Given the description of an element on the screen output the (x, y) to click on. 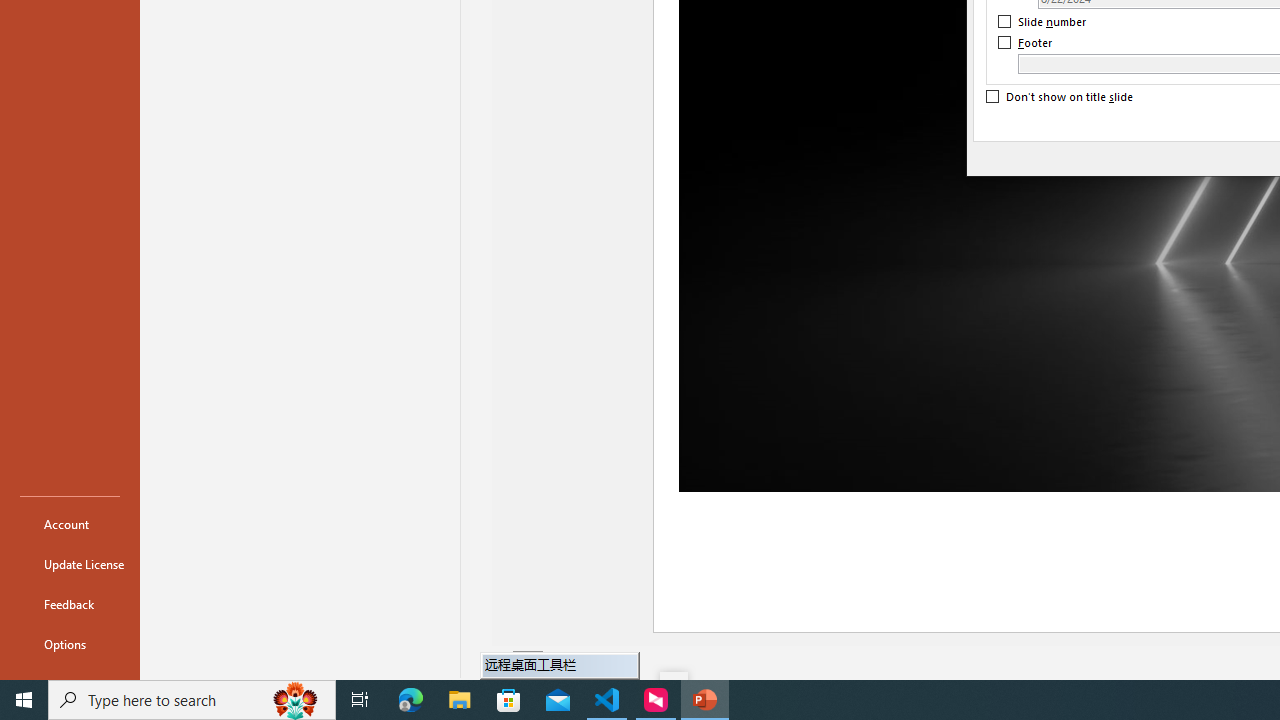
Don't show on title slide (1060, 97)
Next Page (579, 662)
Previous Page (502, 662)
Footer (1025, 43)
Current Page (527, 662)
Account (69, 523)
Microsoft Edge (411, 699)
Update License (69, 563)
Feedback (69, 603)
Slide number (1043, 21)
